Given the description of an element on the screen output the (x, y) to click on. 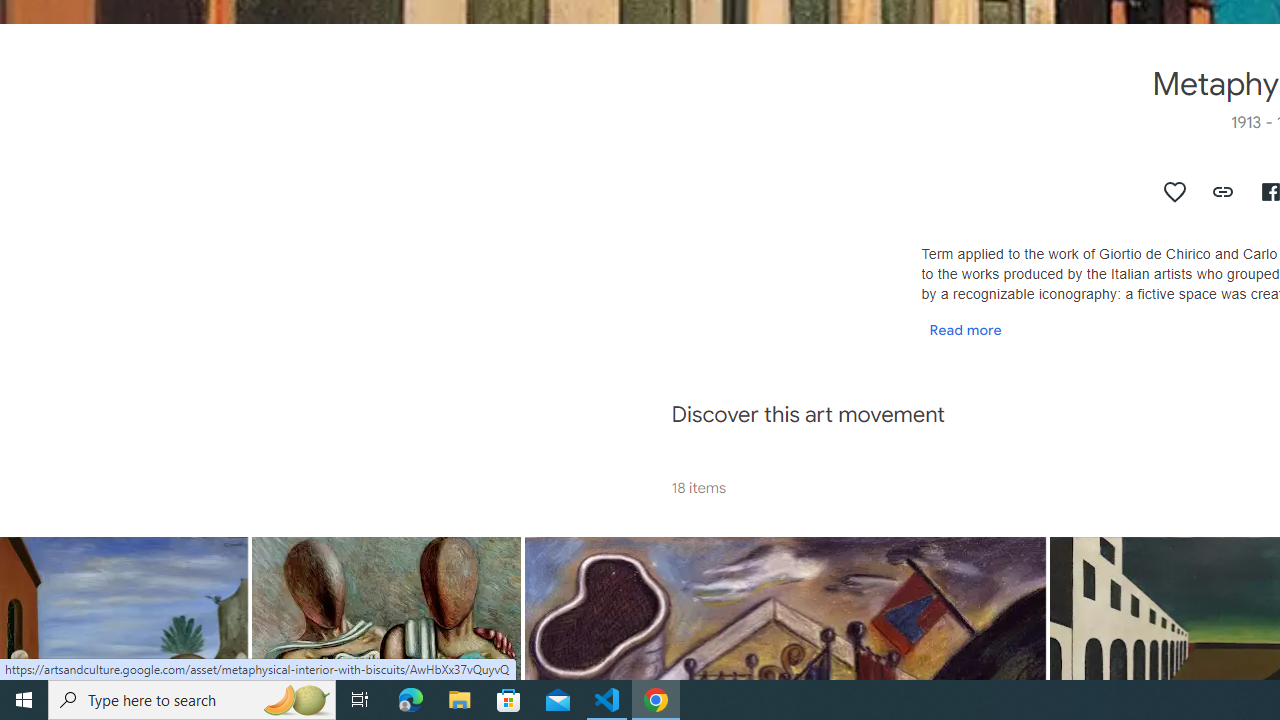
Read more (965, 329)
Authenticate to favorite this asset. (1175, 191)
Copy Link (1223, 191)
